Given the description of an element on the screen output the (x, y) to click on. 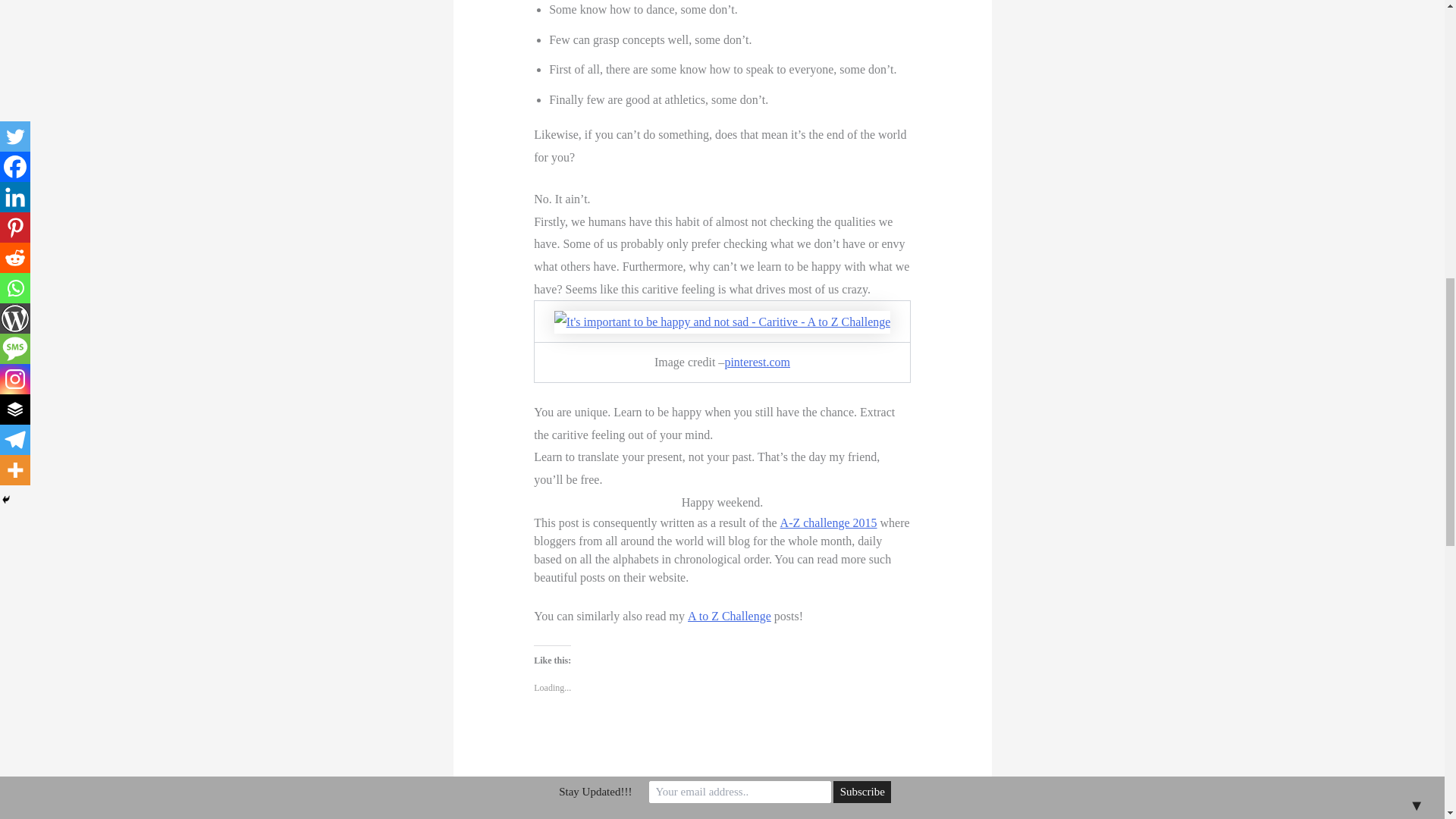
A to Z Challenge (729, 615)
A-Z challenge 2015 (828, 522)
pinterest.com (756, 361)
